Given the description of an element on the screen output the (x, y) to click on. 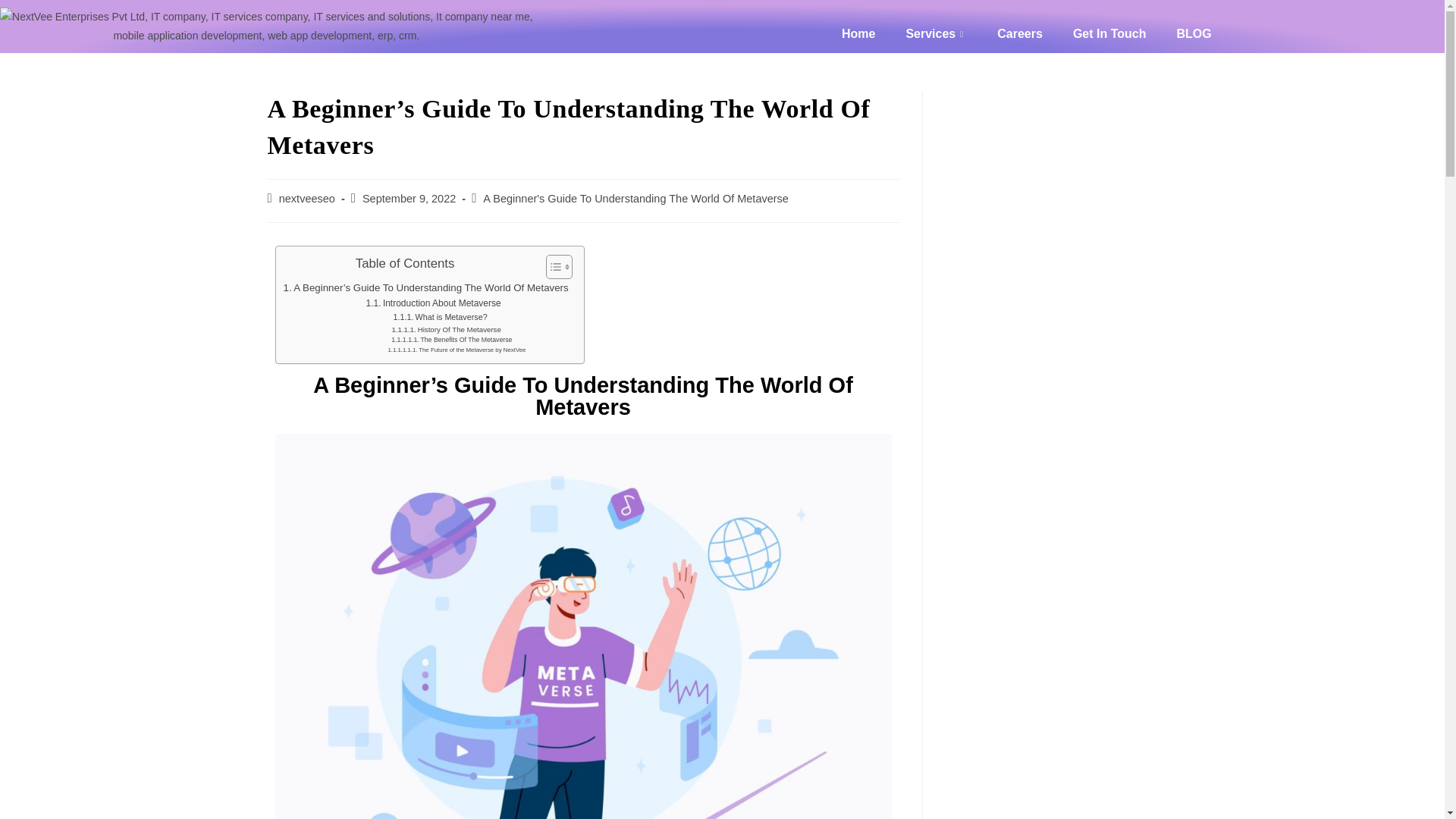
The Future of the Metaverse by NextVee (456, 350)
nextveeseo (306, 198)
History Of The Metaverse (445, 329)
History Of The Metaverse (445, 329)
Introduction About Metaverse (433, 303)
Careers (1019, 33)
Posts by nextveeseo (306, 198)
A Beginner's Guide To Understanding The World Of Metaverse (636, 198)
BLOG (1192, 33)
What is Metaverse? (439, 317)
